Given the description of an element on the screen output the (x, y) to click on. 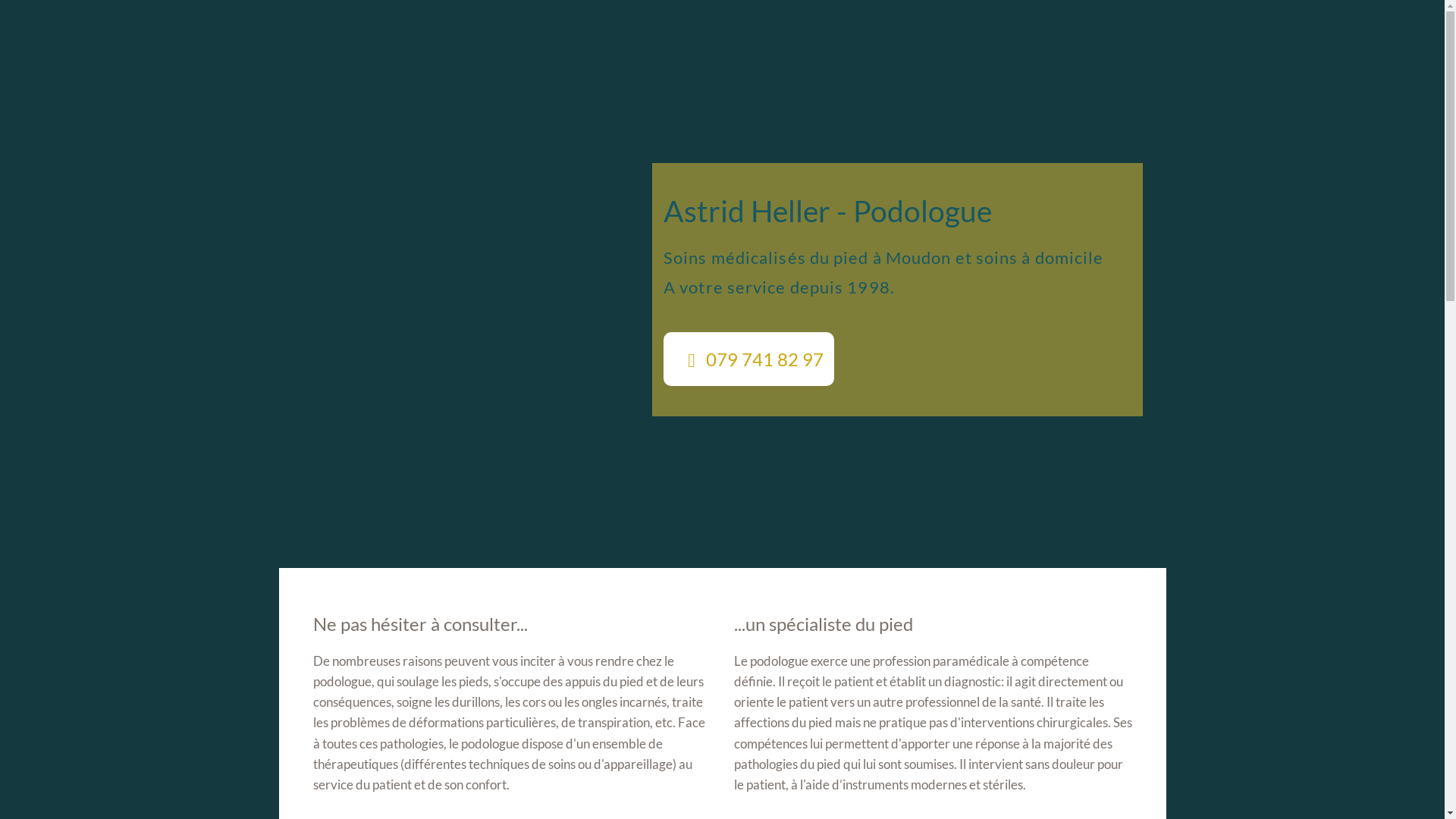
079 741 82 97 Element type: text (748, 358)
